Given the description of an element on the screen output the (x, y) to click on. 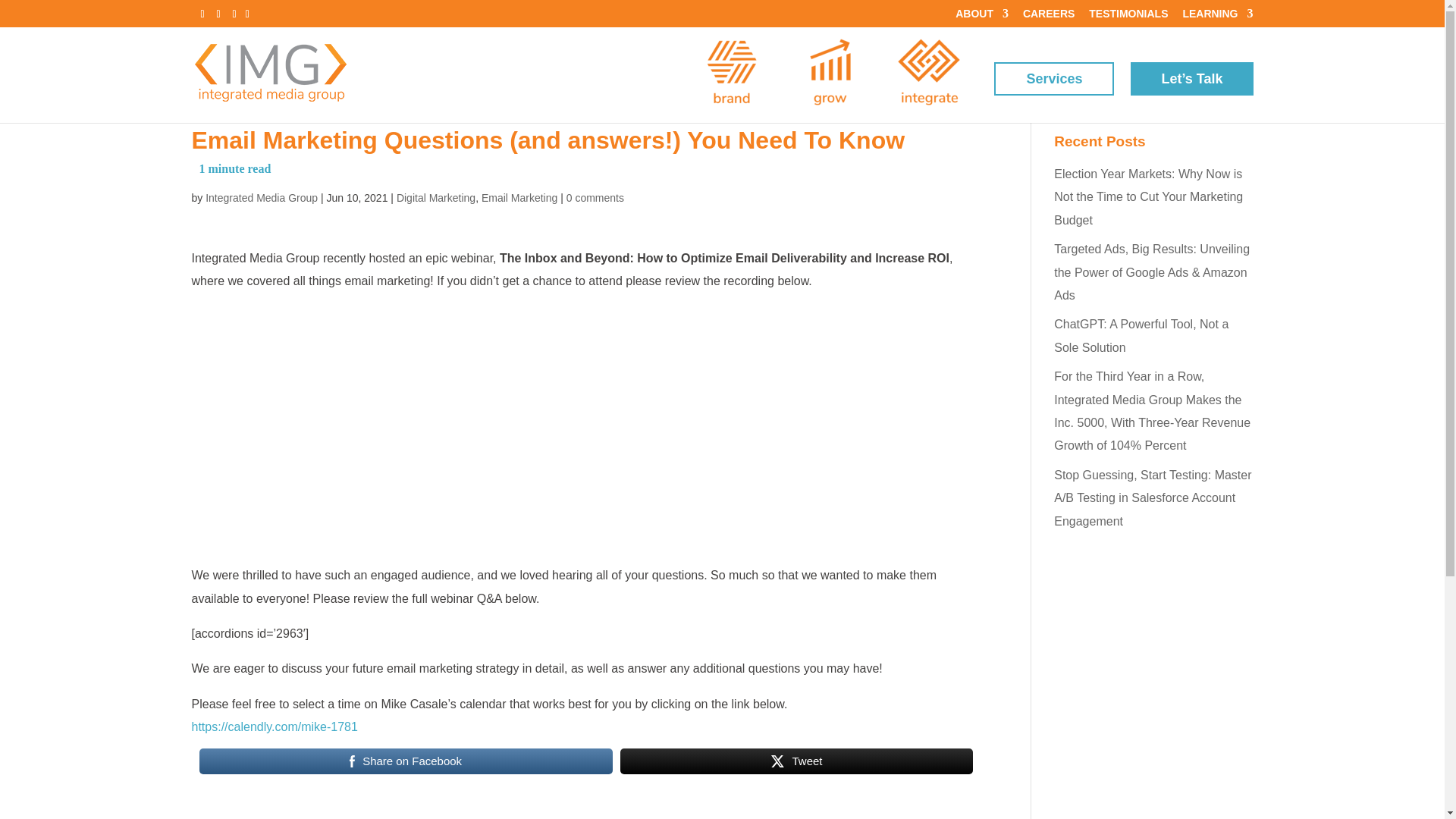
Services (1053, 78)
LEARNING (1217, 16)
CAREERS (1048, 16)
TESTIMONIALS (1128, 16)
YouTube video player (402, 424)
ABOUT (982, 16)
